Given the description of an element on the screen output the (x, y) to click on. 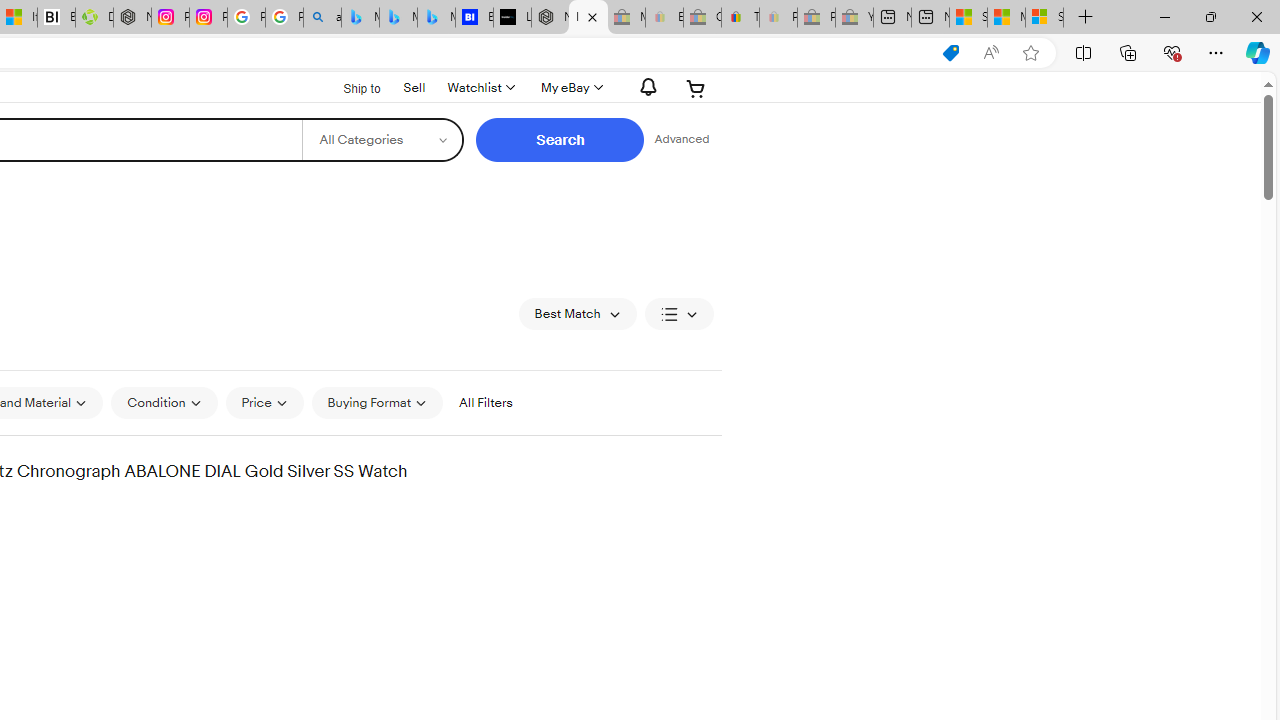
Payments Terms of Use | eBay.com - Sleeping (778, 17)
